Given the description of an element on the screen output the (x, y) to click on. 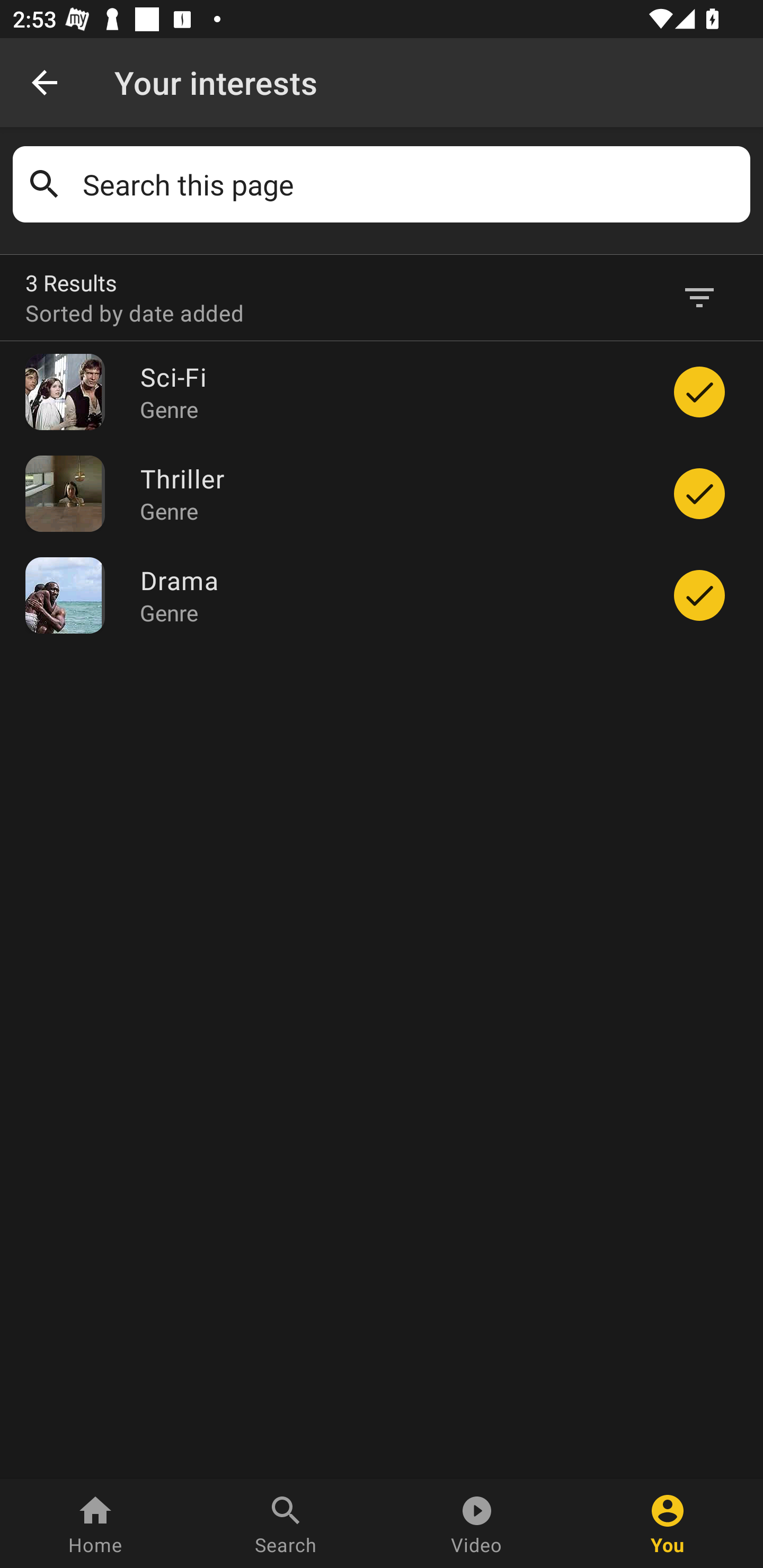
Search this page (410, 184)
Sci-Fi Genre (390, 391)
Thriller Genre (390, 492)
Drama Genre (390, 594)
Home (95, 1523)
Search (285, 1523)
Video (476, 1523)
